Given the description of an element on the screen output the (x, y) to click on. 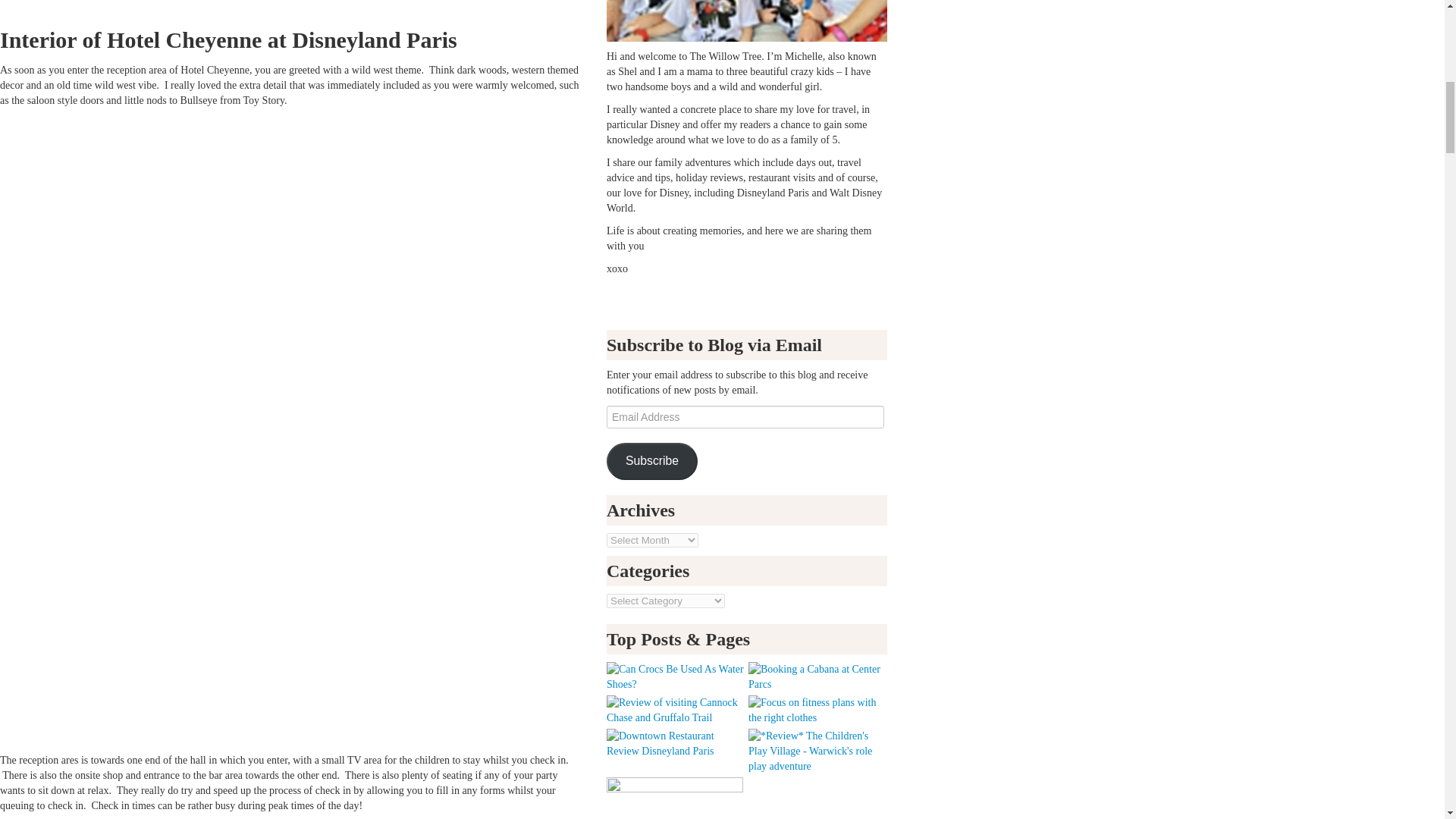
Can Crocs Be Used As Water Shoes? (676, 675)
Focus on fitness plans with the right clothes (817, 709)
Booking a Cabana at Center Parcs (817, 675)
Review of visiting Cannock Chase and Gruffalo Trail (676, 709)
Downtown Restaurant Review Disneyland Paris (676, 743)
